Given the description of an element on the screen output the (x, y) to click on. 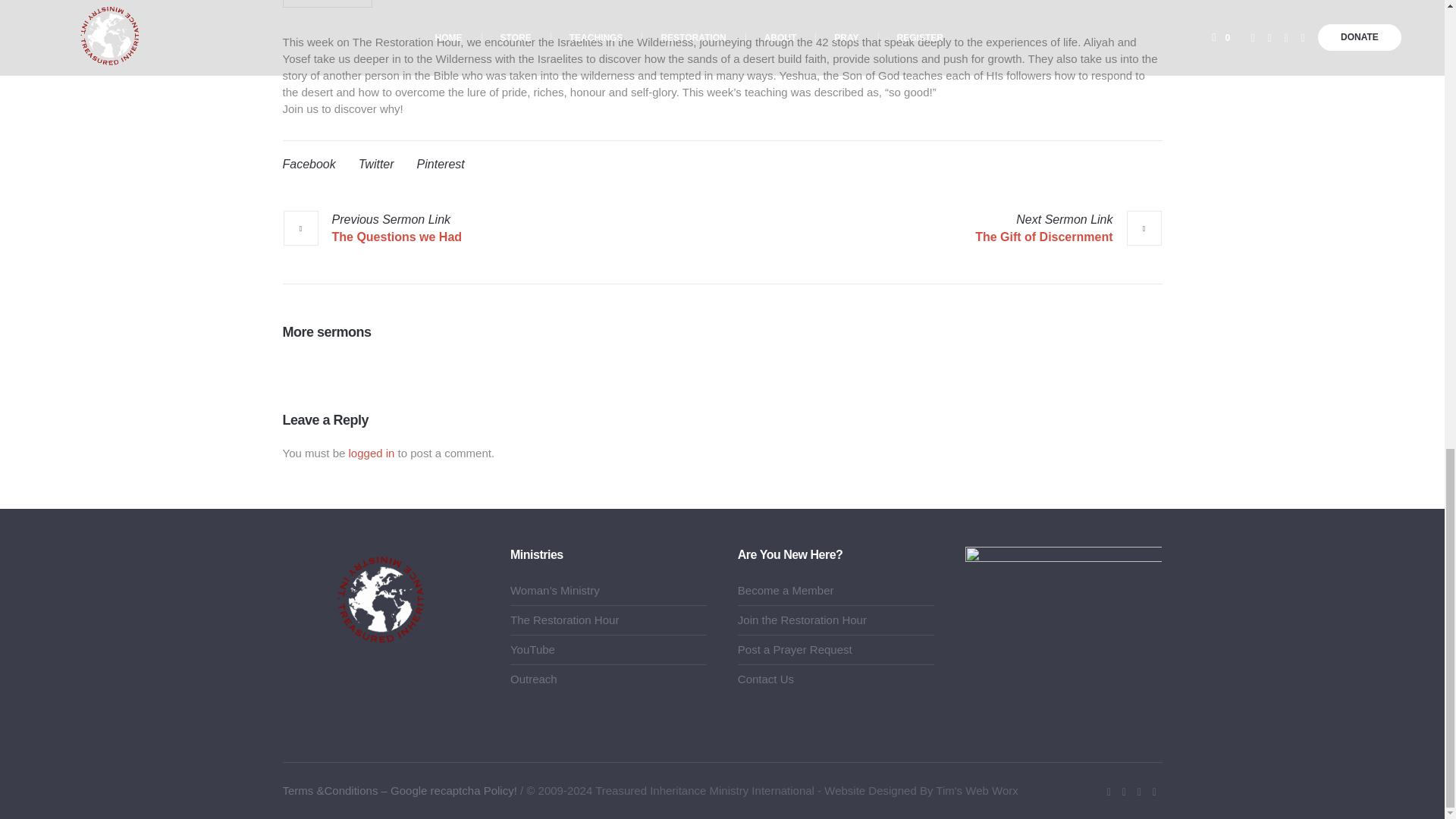
The Gift of Discernment (1068, 227)
Facebook (308, 164)
The Questions we Had (371, 227)
Listen (327, 3)
Pinterest (440, 164)
Twitter (376, 164)
